Given the description of an element on the screen output the (x, y) to click on. 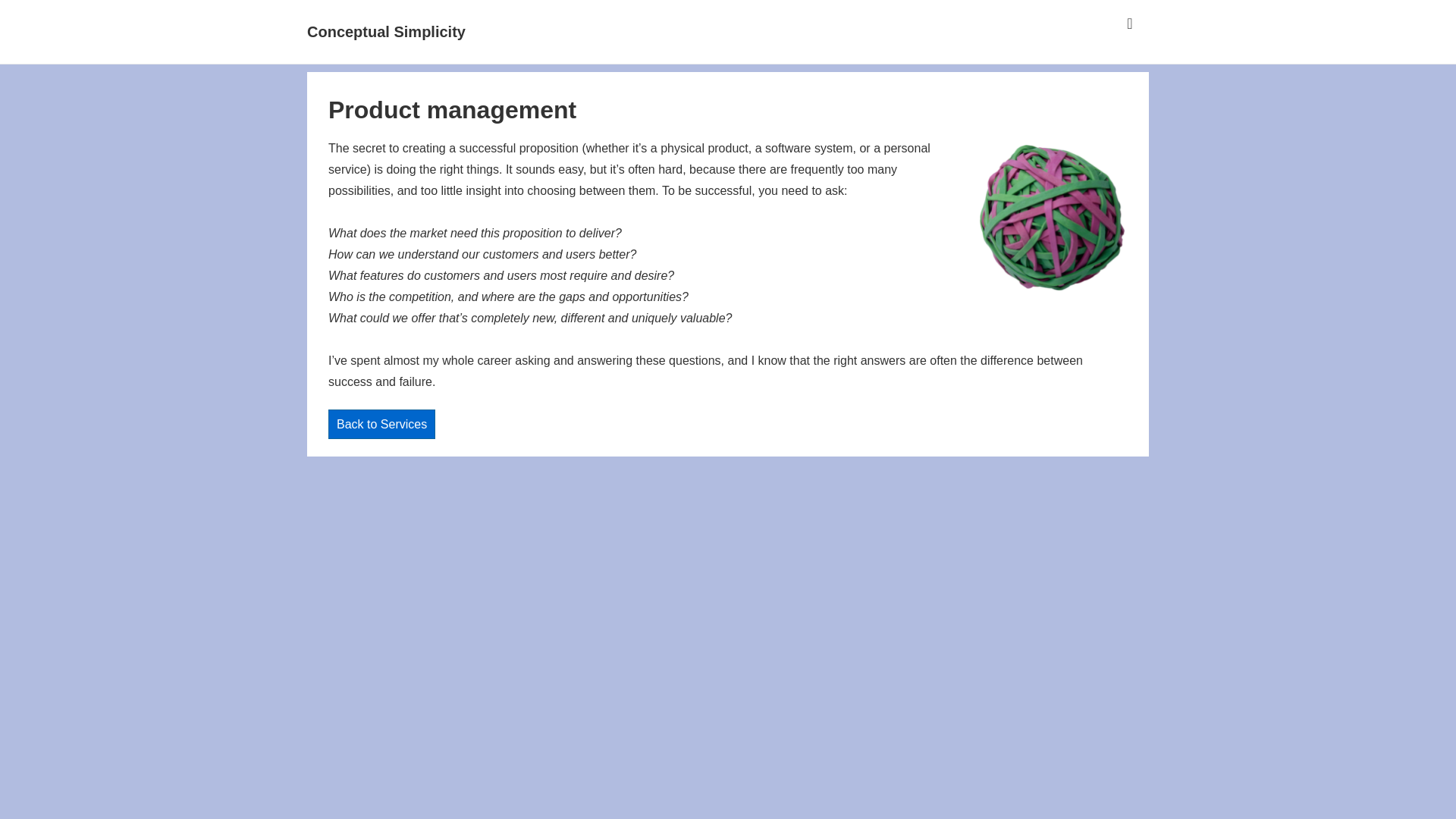
Back to Services (382, 423)
MENU (1130, 23)
Conceptual Simplicity (386, 31)
